Given the description of an element on the screen output the (x, y) to click on. 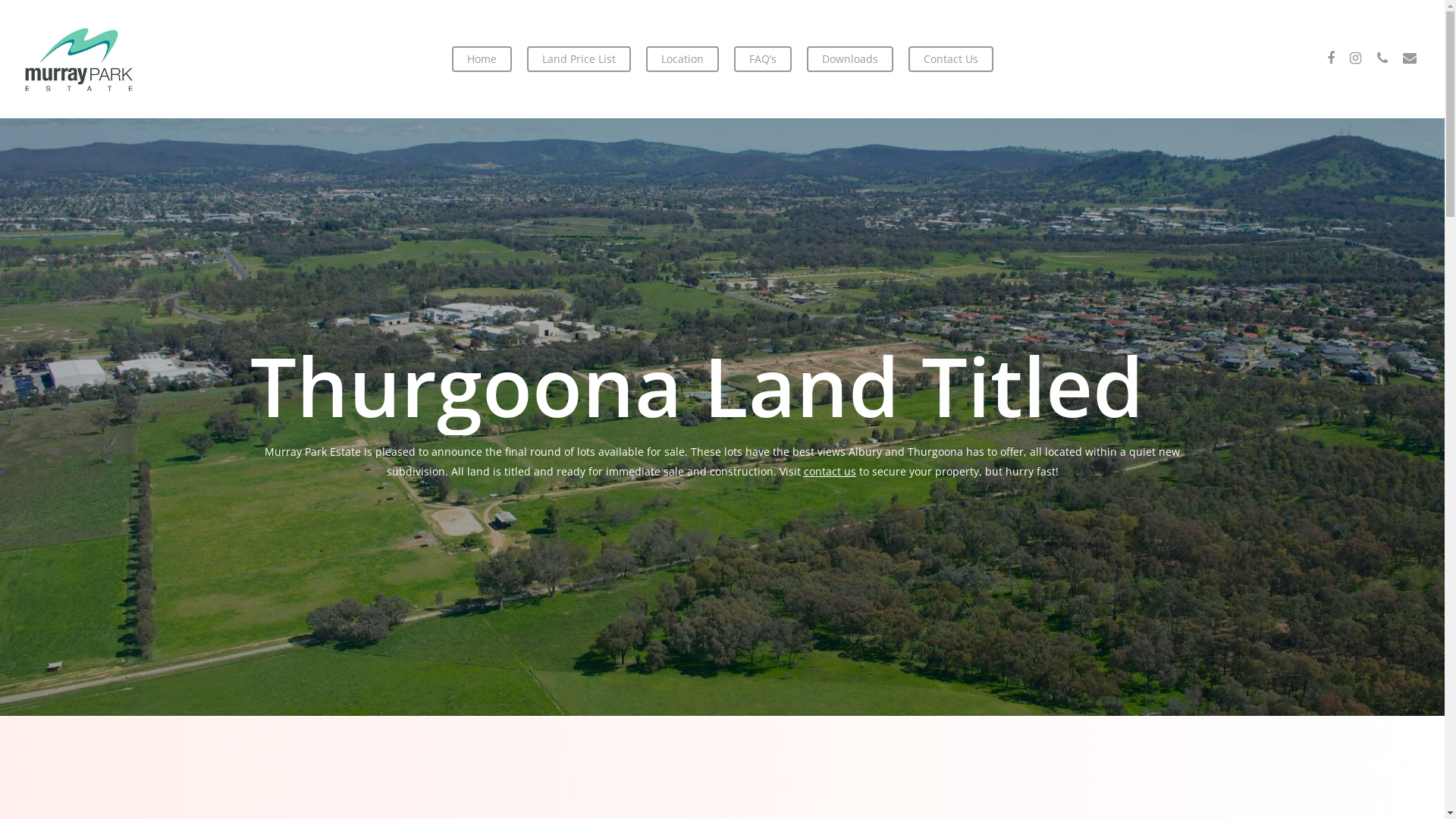
contact us Element type: text (829, 471)
Land Price List Element type: text (578, 58)
Downloads Element type: text (849, 58)
facebook Element type: text (1330, 58)
email Element type: text (1409, 58)
instagram Element type: text (1354, 58)
Location Element type: text (682, 58)
Home Element type: text (481, 58)
Contact Us Element type: text (950, 58)
phone Element type: text (1382, 58)
